Given the description of an element on the screen output the (x, y) to click on. 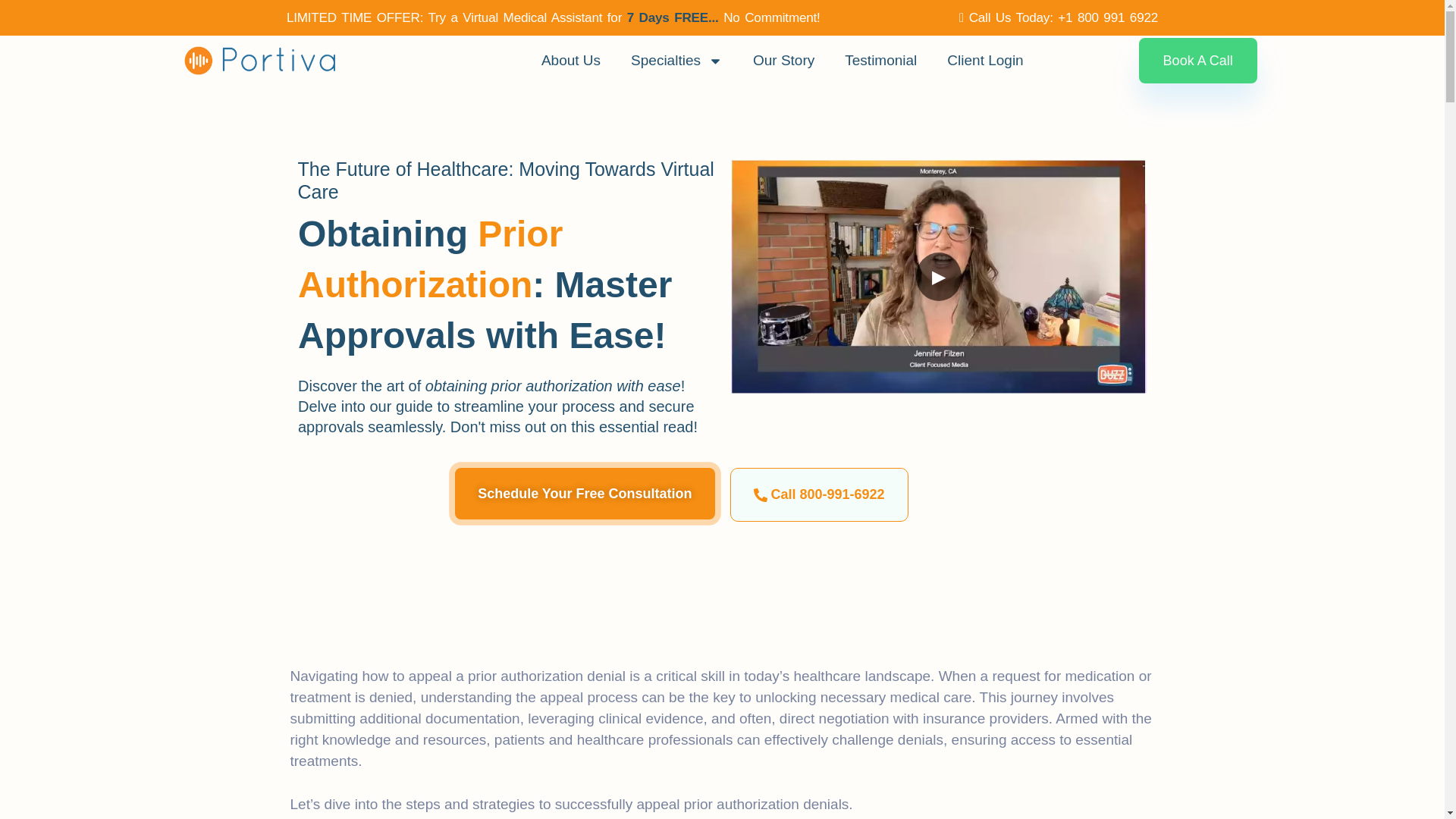
About Us (570, 60)
Schedule Your Free Consultation (584, 493)
Client Login (984, 60)
Our Story (783, 60)
Book A Call (1197, 60)
Call 800-991-6922 (818, 494)
Testimonial (880, 60)
Specialties (676, 60)
